Given the description of an element on the screen output the (x, y) to click on. 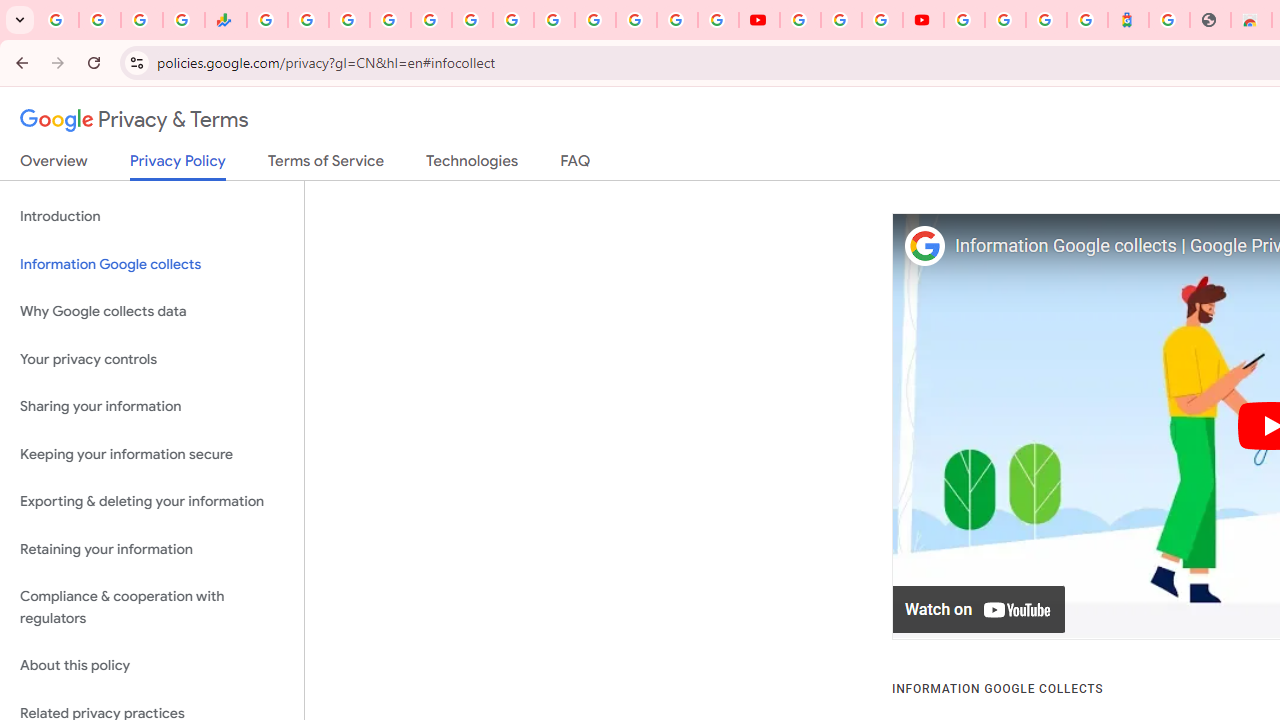
Watch on YouTube (979, 610)
Sign in - Google Accounts (964, 20)
YouTube (799, 20)
Sign in - Google Accounts (1005, 20)
Retaining your information (152, 548)
